Given the description of an element on the screen output the (x, y) to click on. 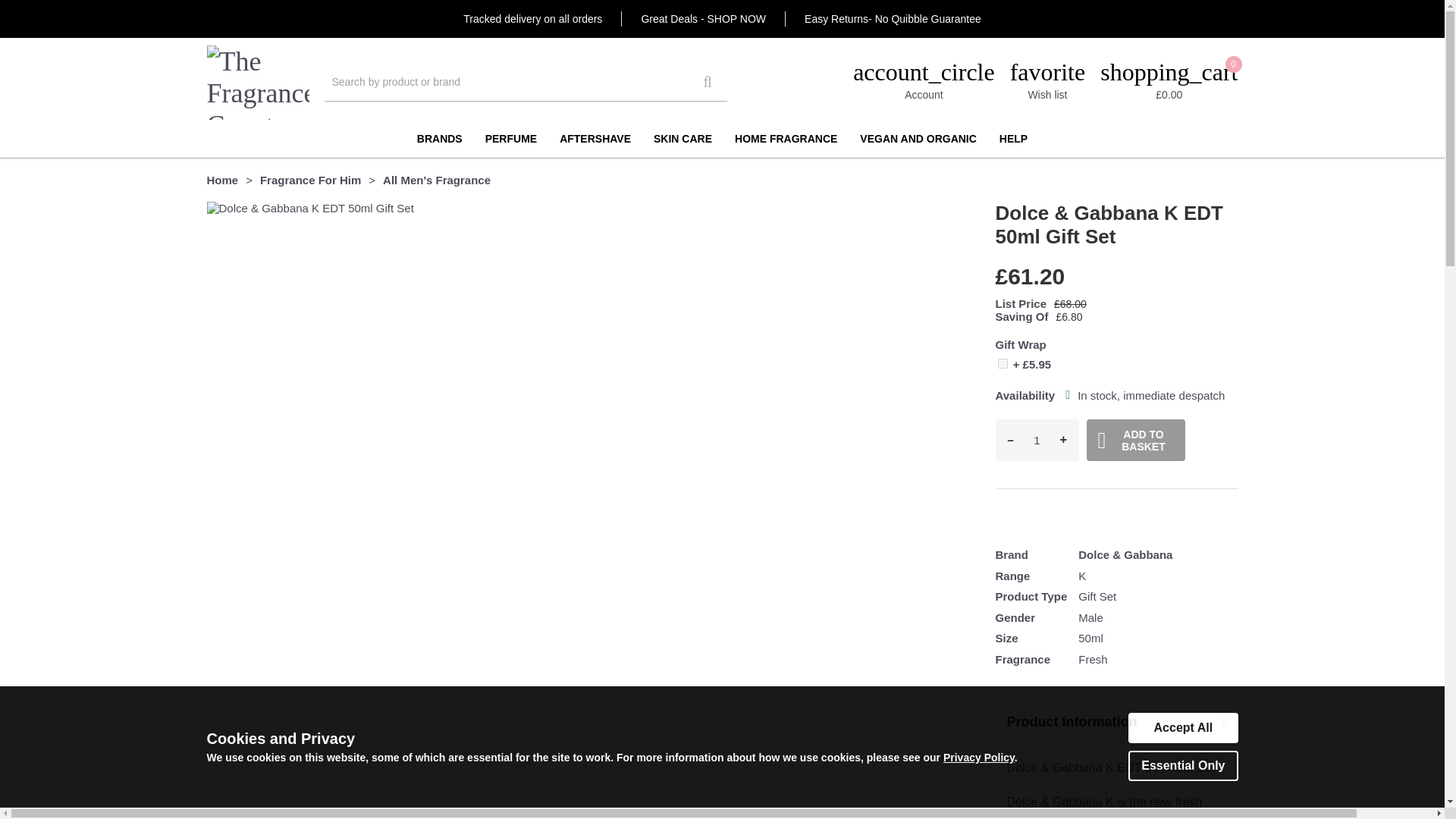
1 (1002, 363)
In stock, immediate despatch (1067, 394)
Go (1048, 81)
1 (706, 81)
Easy Returns- No Quibble Guarantee (1037, 440)
Tracked delivery on all orders (893, 19)
PERFUME (532, 19)
Great Deals - SHOP NOW (511, 138)
BRANDS (702, 19)
